Given the description of an element on the screen output the (x, y) to click on. 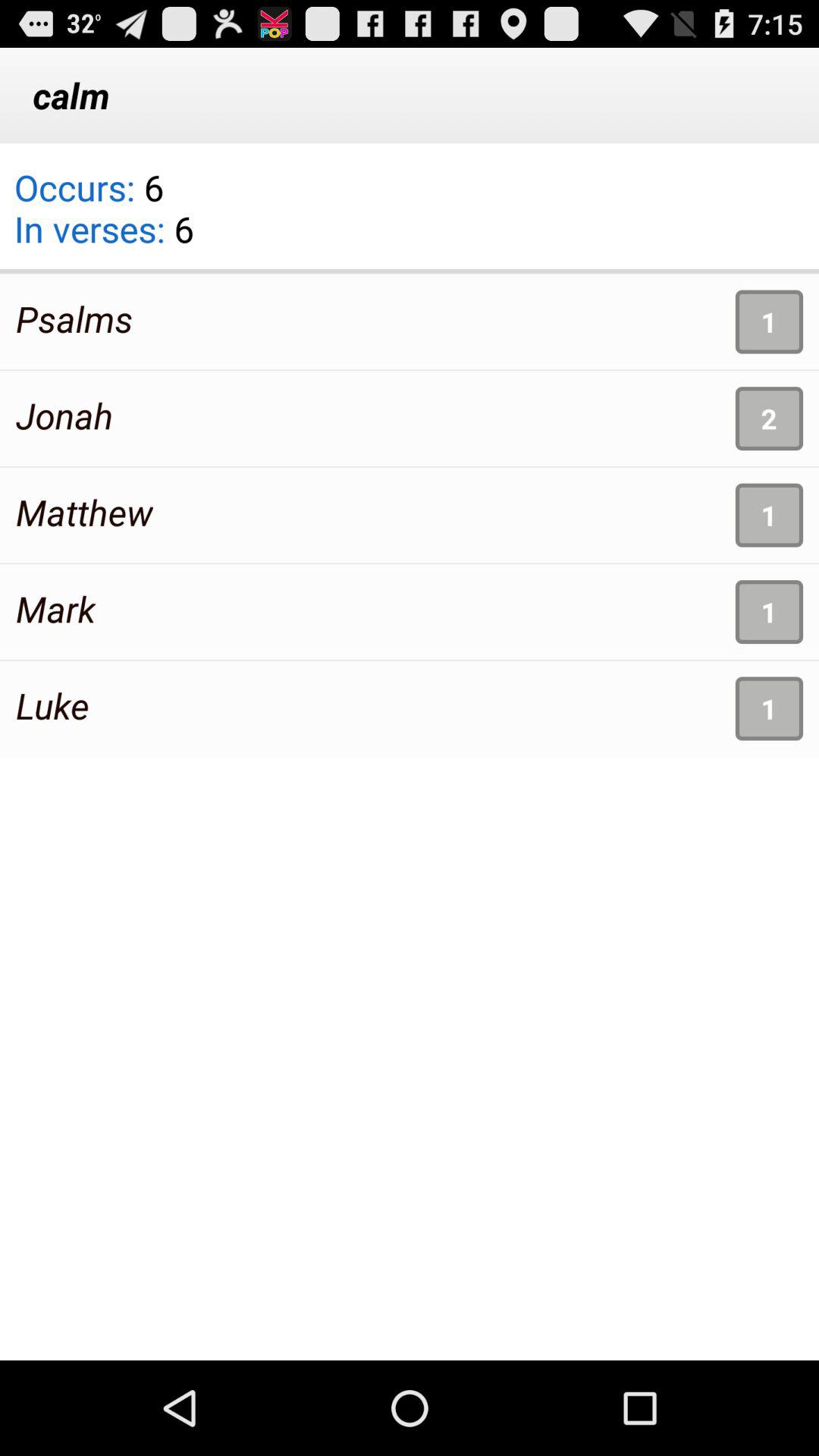
turn on icon next to the 1 icon (83, 511)
